Given the description of an element on the screen output the (x, y) to click on. 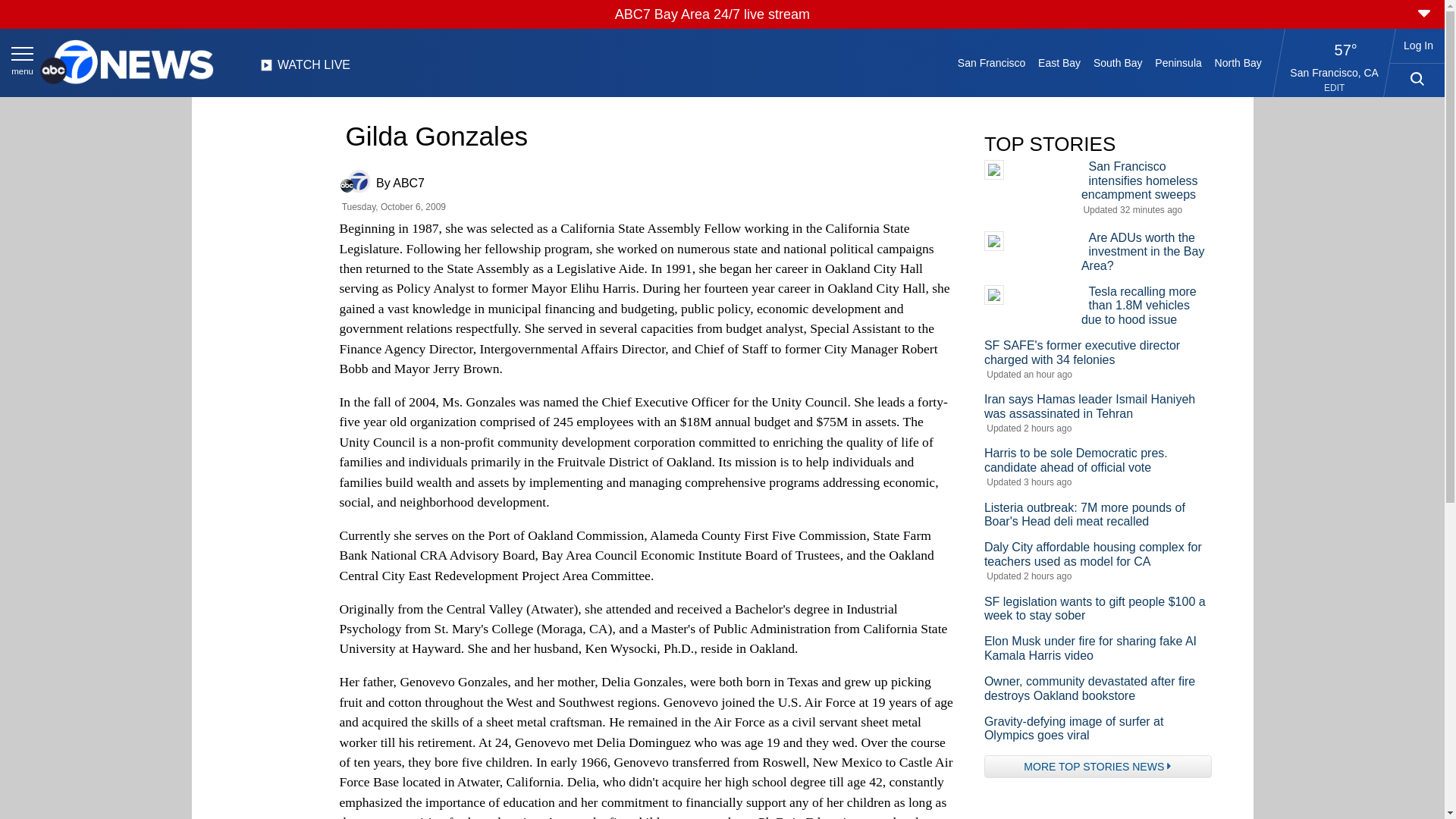
San Francisco, CA (1334, 72)
South Bay (1117, 62)
San Francisco (990, 62)
East Bay (1059, 62)
North Bay (1238, 62)
Peninsula (1178, 62)
EDIT (1333, 87)
WATCH LIVE (305, 69)
